Given the description of an element on the screen output the (x, y) to click on. 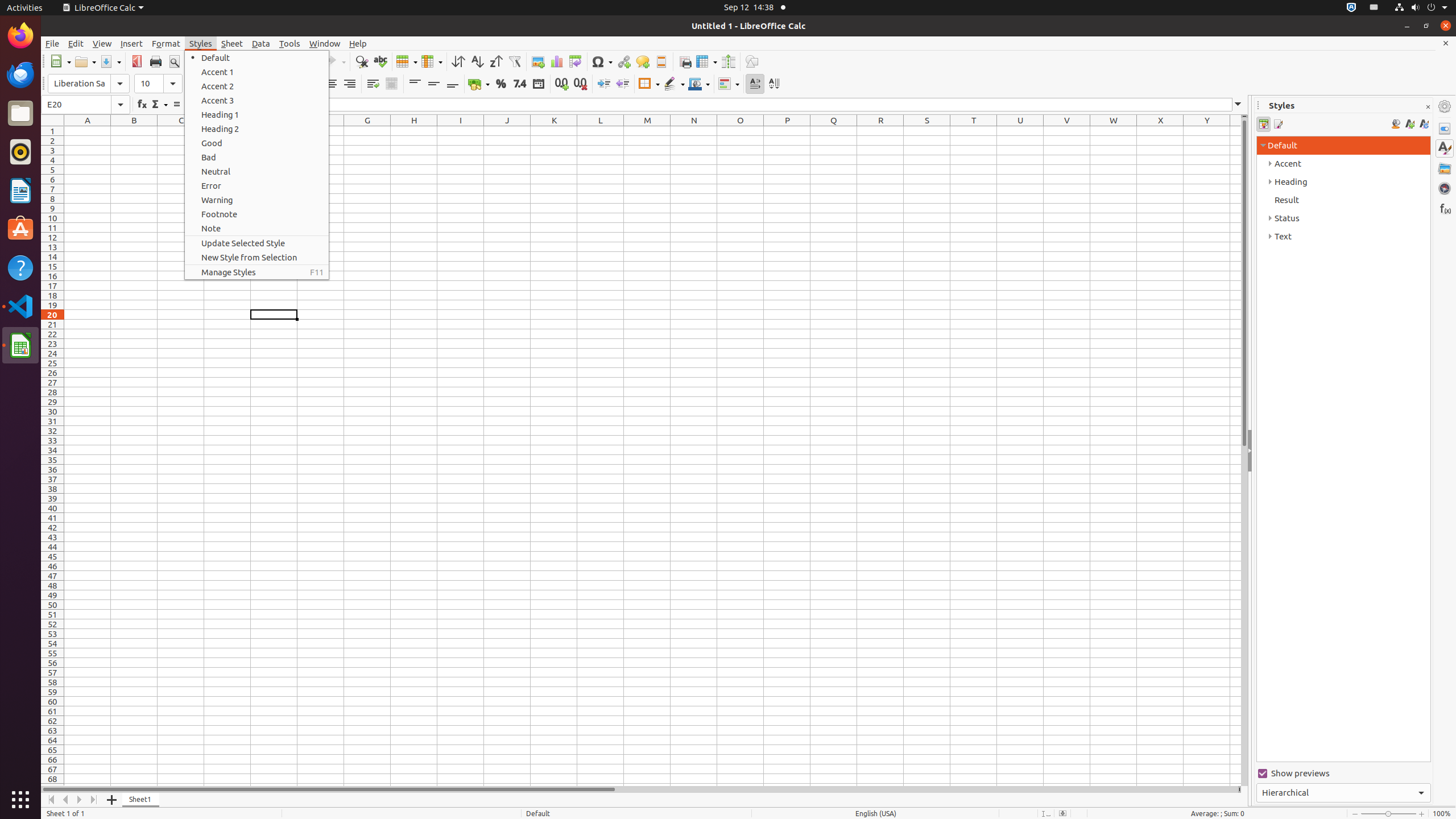
New Style from Selection Element type: menu-item (256, 257)
Move To End Element type: push-button (94, 799)
Error Element type: radio-menu-item (256, 185)
Row Element type: push-button (406, 61)
Wrap Text Element type: push-button (372, 83)
